Given the description of an element on the screen output the (x, y) to click on. 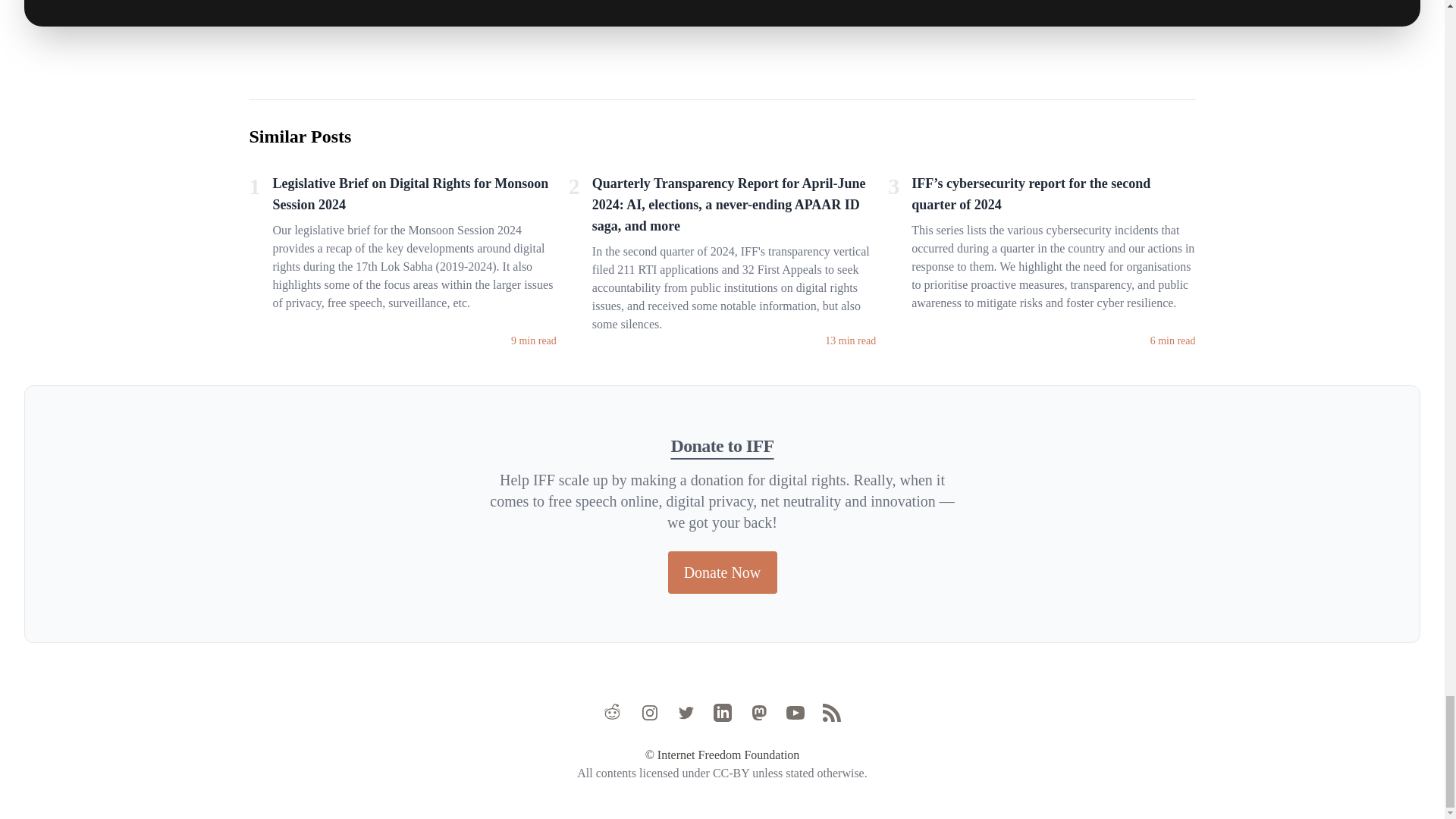
Instagram (649, 712)
Twitter (685, 712)
Linkedin (721, 712)
Mastodon (758, 712)
Reddit (612, 712)
Youtube (794, 712)
Donate Now (721, 572)
Legislative Brief on Digital Rights for Monsoon Session 2024 (414, 196)
RSS (831, 712)
